Given the description of an element on the screen output the (x, y) to click on. 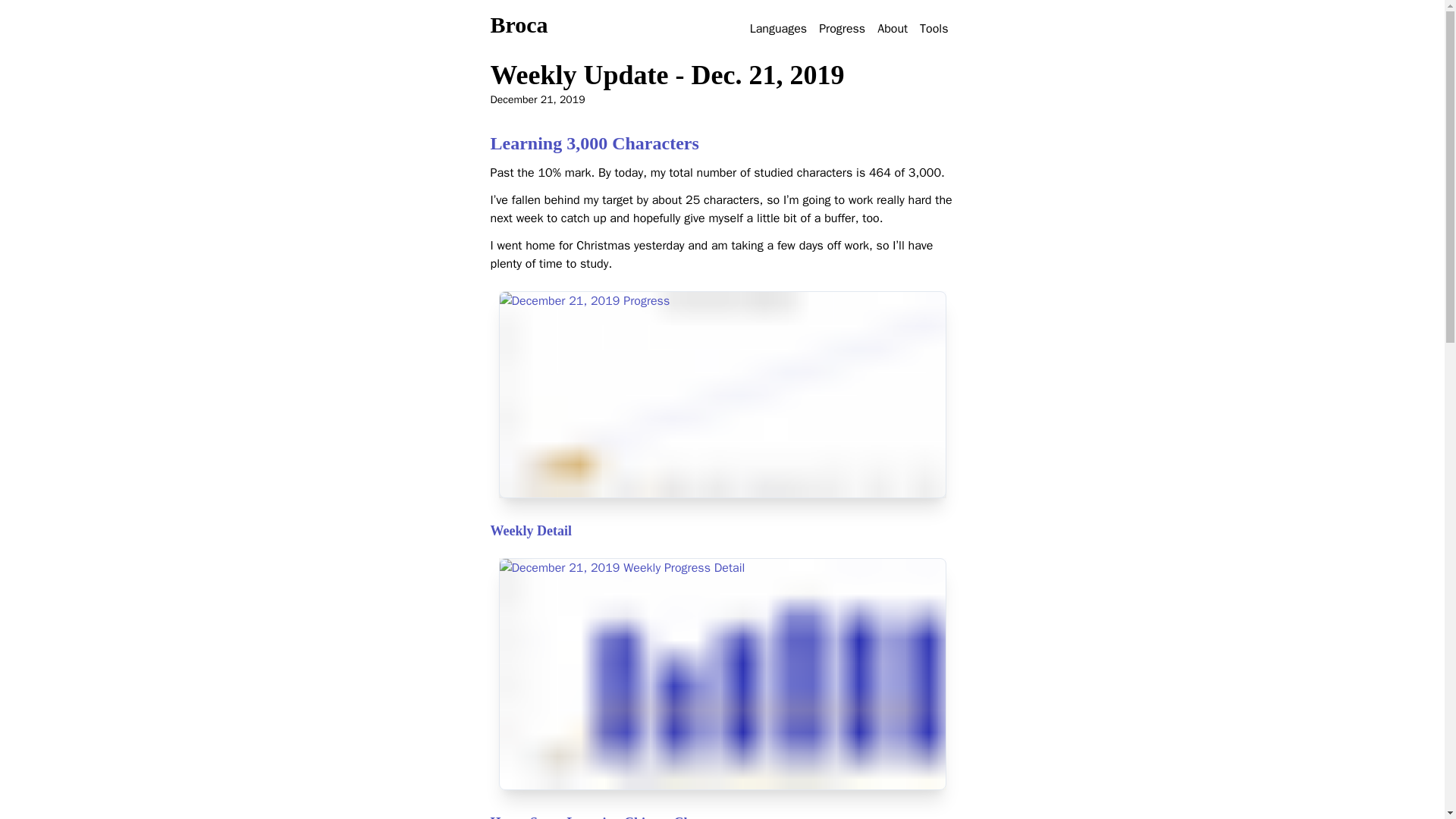
December 21, 2019 Progress (722, 394)
About (892, 28)
Tools (933, 28)
December 21, 2019 Weekly Progress Detail (722, 674)
Languages (777, 28)
Broca (518, 24)
Progress (841, 28)
